Given the description of an element on the screen output the (x, y) to click on. 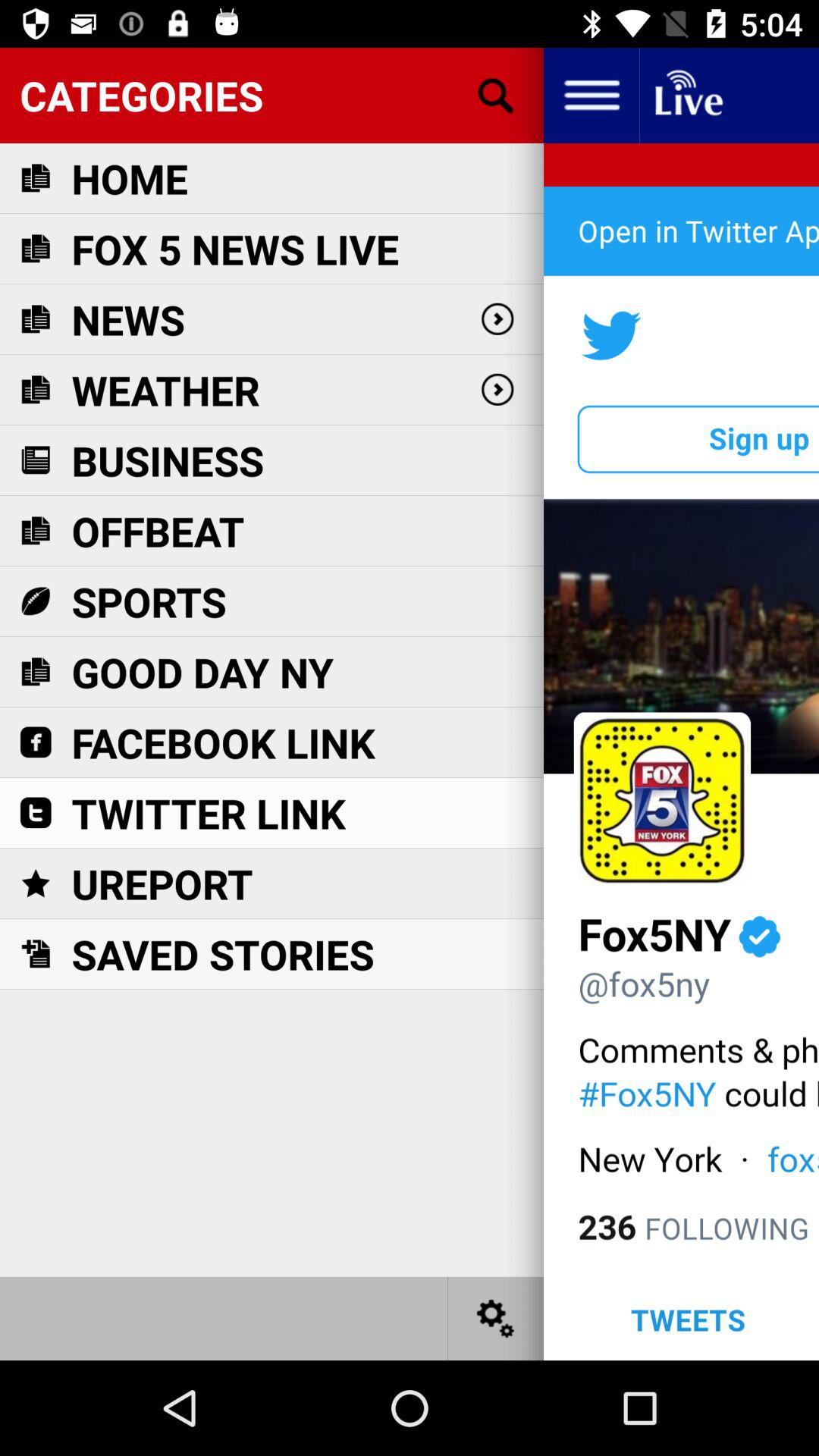
click sports (148, 601)
